Given the description of an element on the screen output the (x, y) to click on. 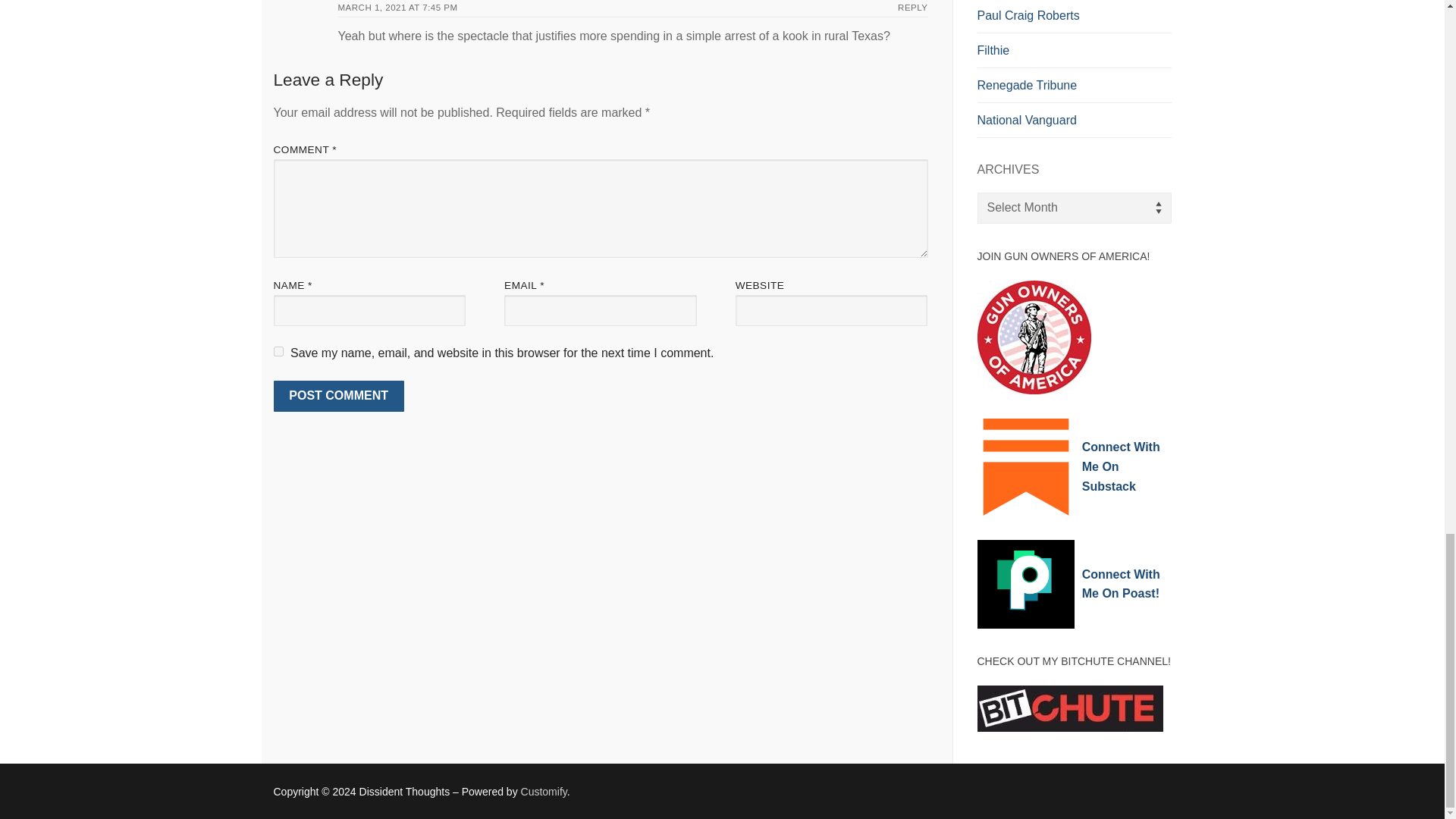
Post Comment (338, 396)
yes (277, 351)
Post Comment (338, 396)
REPLY (912, 7)
MARCH 1, 2021 AT 7:45 PM (397, 7)
